Given the description of an element on the screen output the (x, y) to click on. 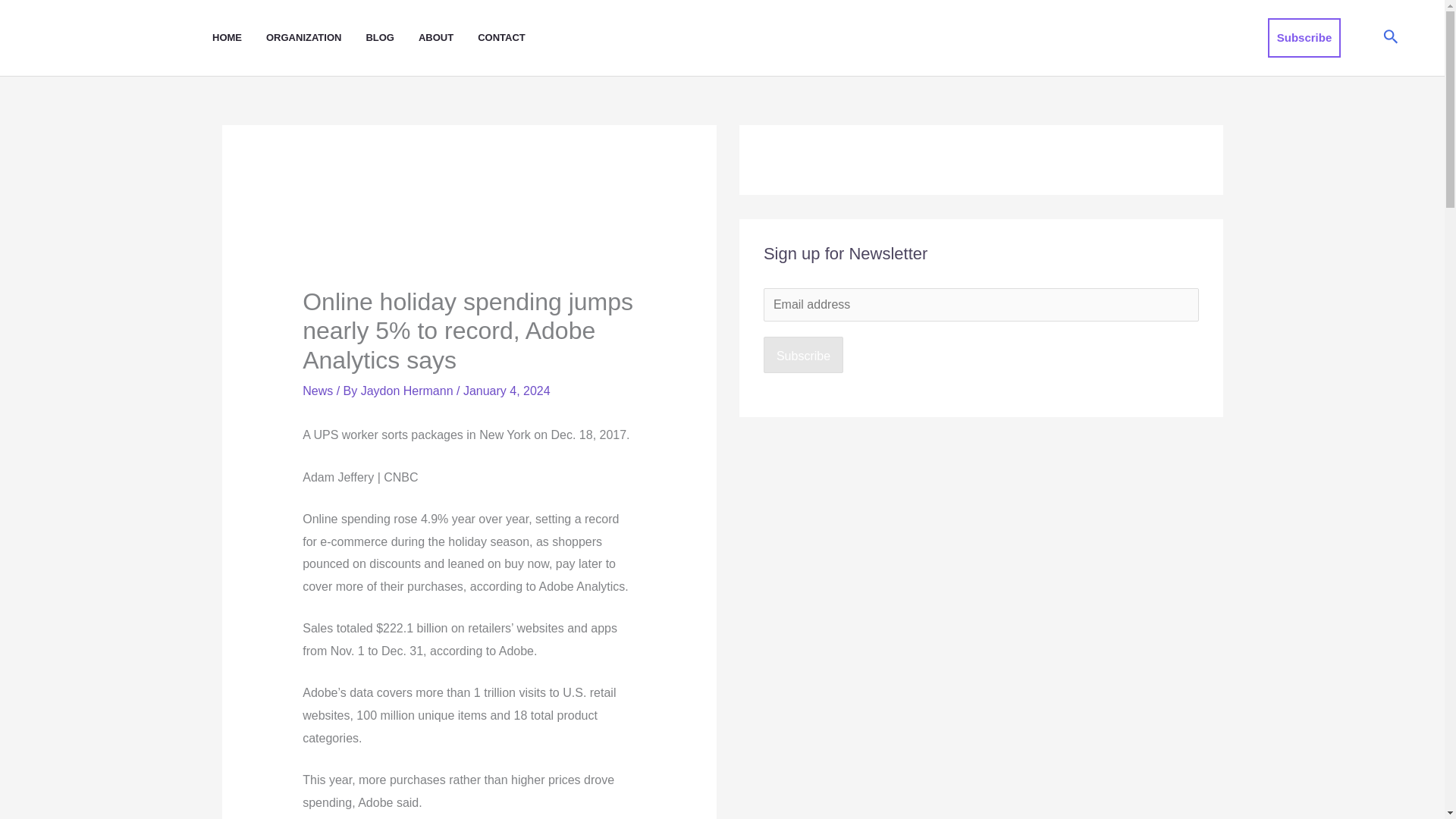
CONTACT (513, 38)
Jaydon Hermann (409, 390)
Subscribe (1304, 37)
News (317, 390)
ORGANIZATION (315, 38)
Subscribe (802, 354)
View all posts by Jaydon Hermann (409, 390)
